Given the description of an element on the screen output the (x, y) to click on. 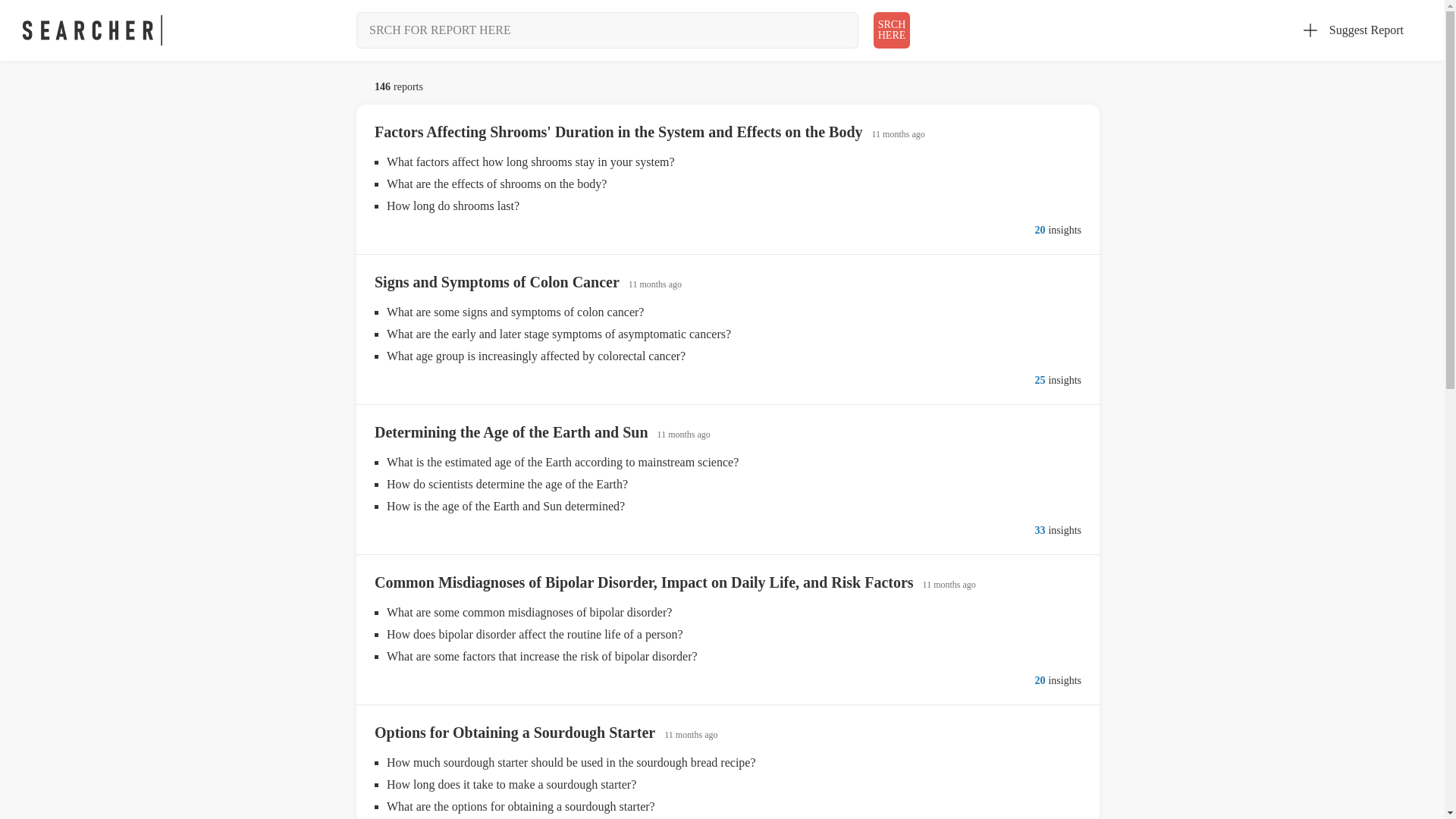
Determining the Age of the Earth and Sun (510, 432)
Signs and Symptoms of Colon Cancer (891, 30)
Suggest Report (497, 281)
Options for Obtaining a Sourdough Starter (1353, 30)
Go home link (514, 732)
